Given the description of an element on the screen output the (x, y) to click on. 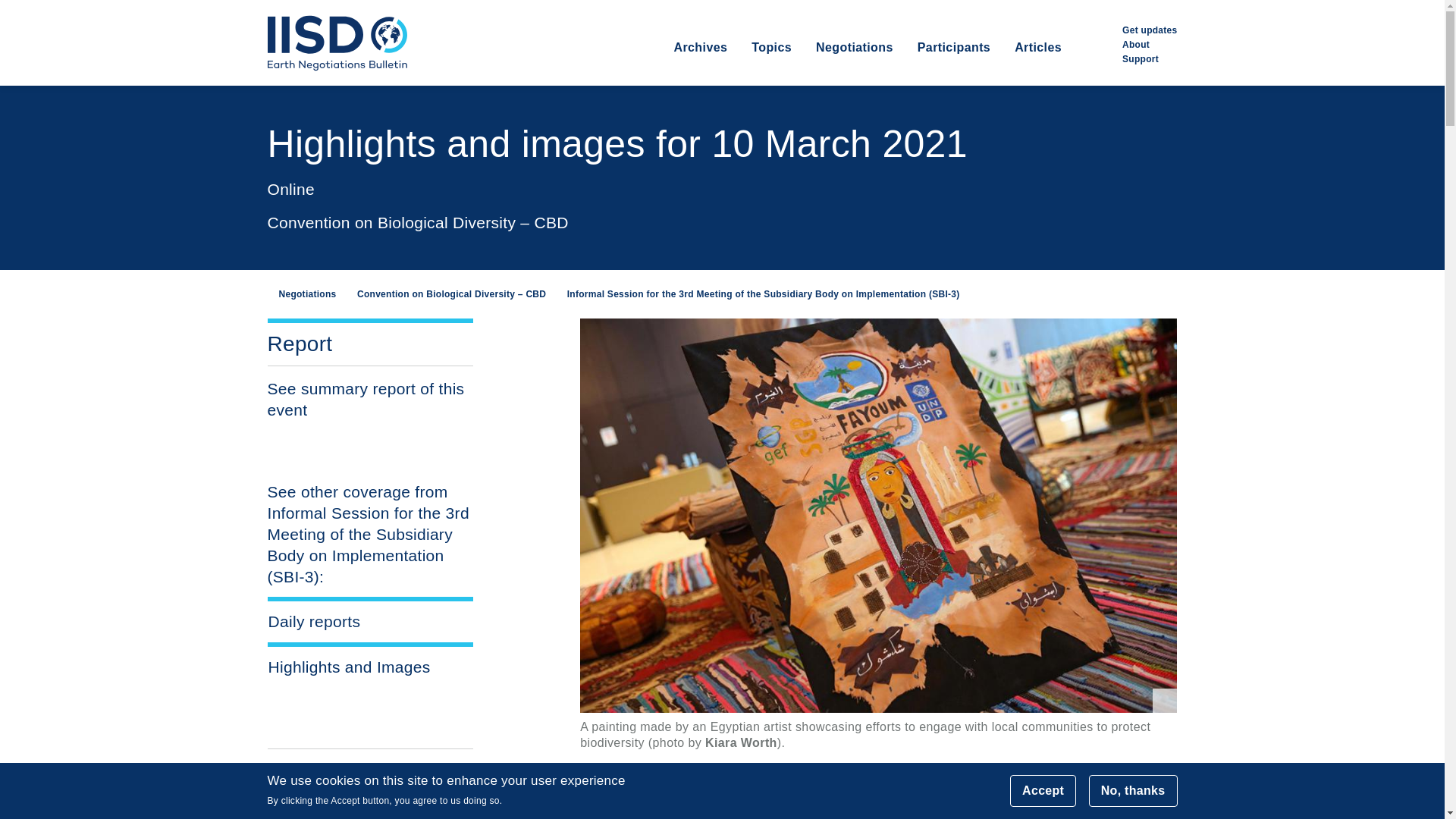
Participants (953, 62)
Share via Twitter (299, 798)
Negotiations (854, 62)
Twitter (299, 798)
Get updates (1149, 29)
Daily reports (369, 621)
Negotiations (301, 294)
Accept (1042, 790)
Highlights and Images (369, 667)
Share via Facebook (389, 798)
Summary report (365, 399)
Articles (1037, 62)
Archives (699, 62)
About (1136, 44)
